Given the description of an element on the screen output the (x, y) to click on. 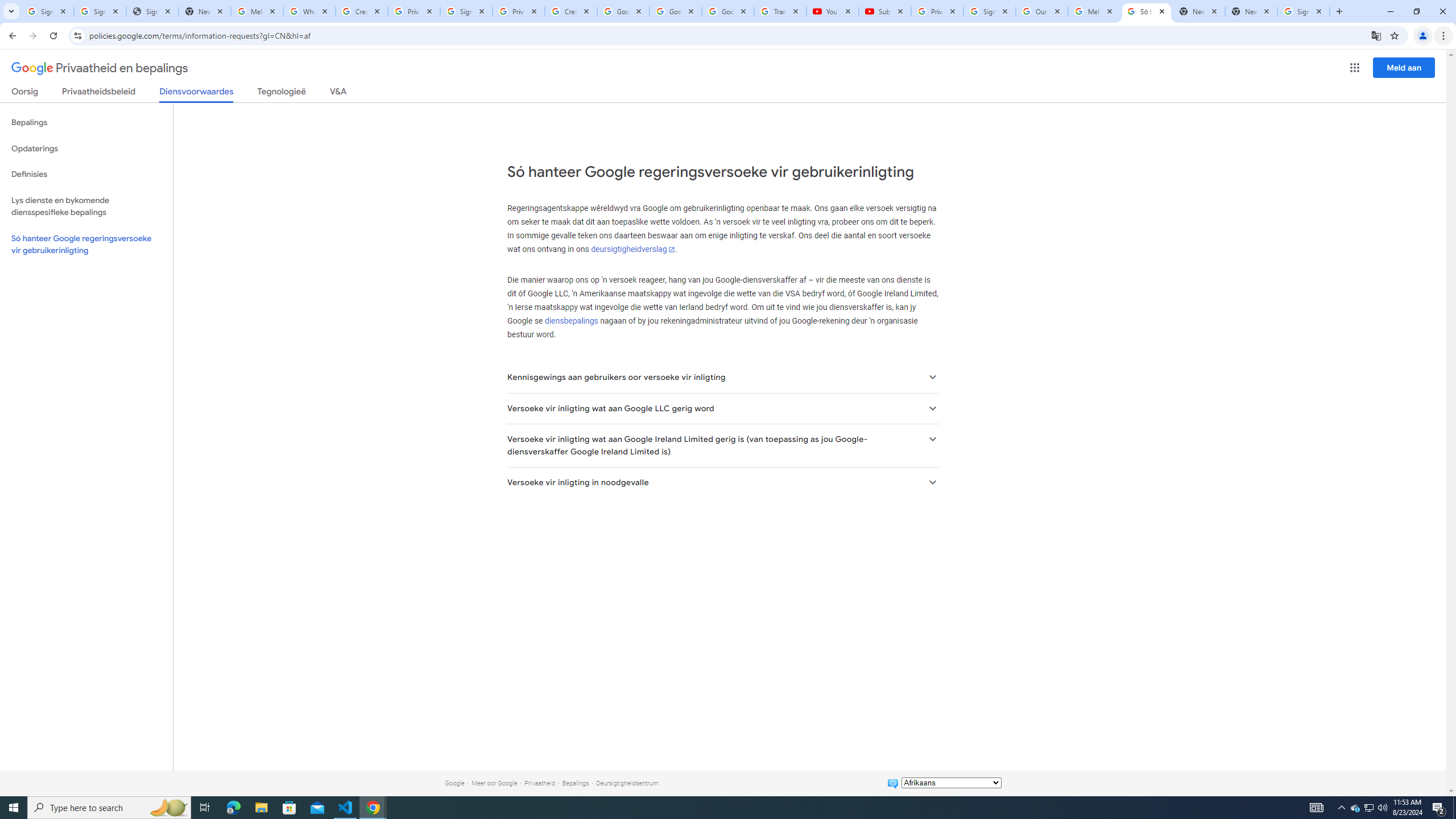
Oorsig (25, 93)
Privaatheid en bepalings (99, 68)
Versoeke vir inligting in noodgevalle (722, 482)
New Tab (1251, 11)
Bepalings (575, 783)
Google Account (727, 11)
Diensvoorwaardes (196, 94)
Opdaterings (86, 148)
